Given the description of an element on the screen output the (x, y) to click on. 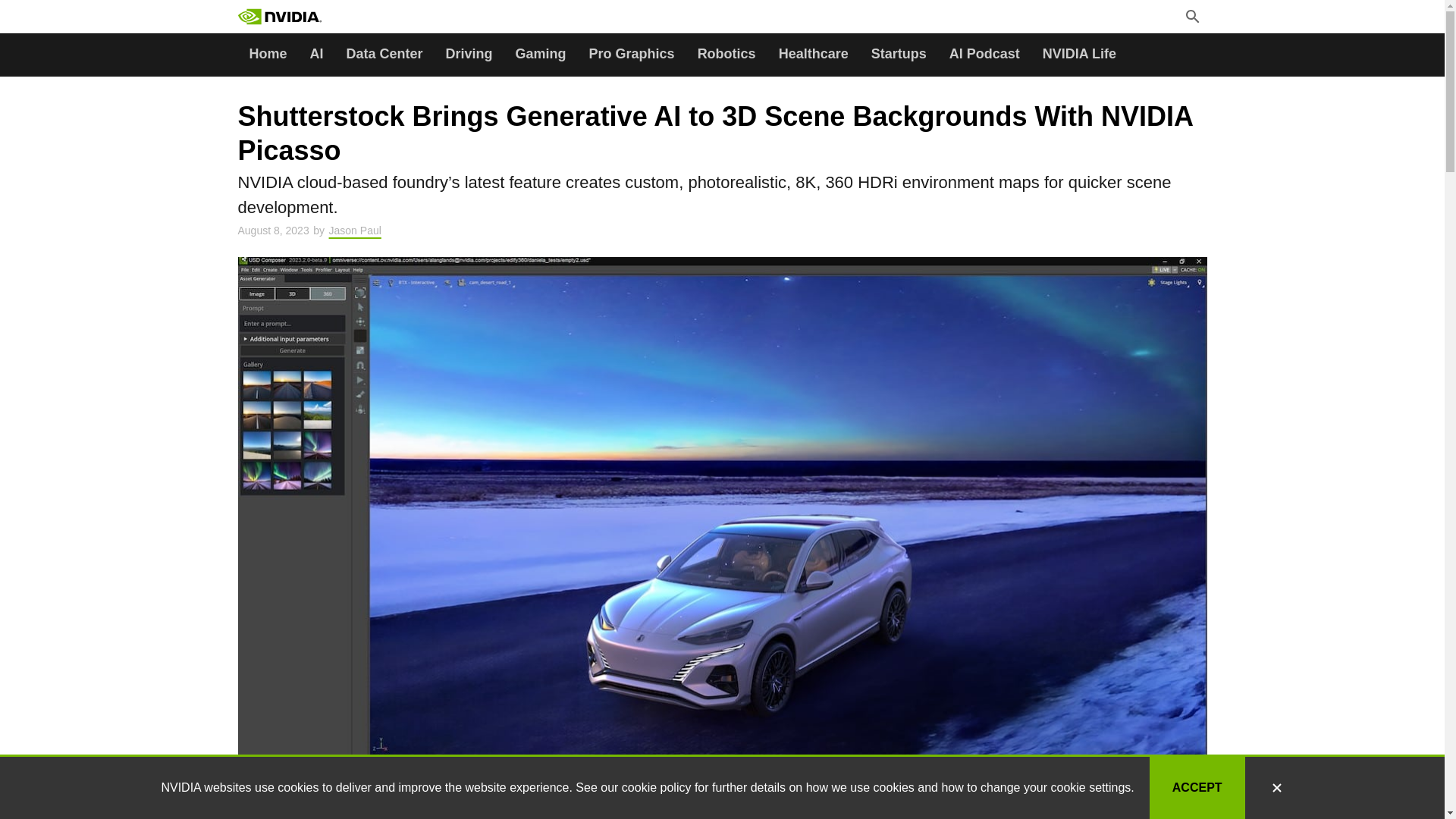
Data Center (383, 55)
Healthcare (813, 55)
Pro Graphics (631, 55)
Startups (898, 55)
AI Podcast (983, 55)
Gaming (540, 55)
View all posts by Jason Paul (355, 230)
Home (268, 55)
Jason Paul (355, 230)
Robotics (726, 55)
Driving (468, 55)
Search (374, 18)
Artificial Intelligence Computing Leadership from NVIDIA (314, 16)
NVIDIA Life (1078, 55)
Artificial Intelligence Computing Leadership from NVIDIA (279, 16)
